Given the description of an element on the screen output the (x, y) to click on. 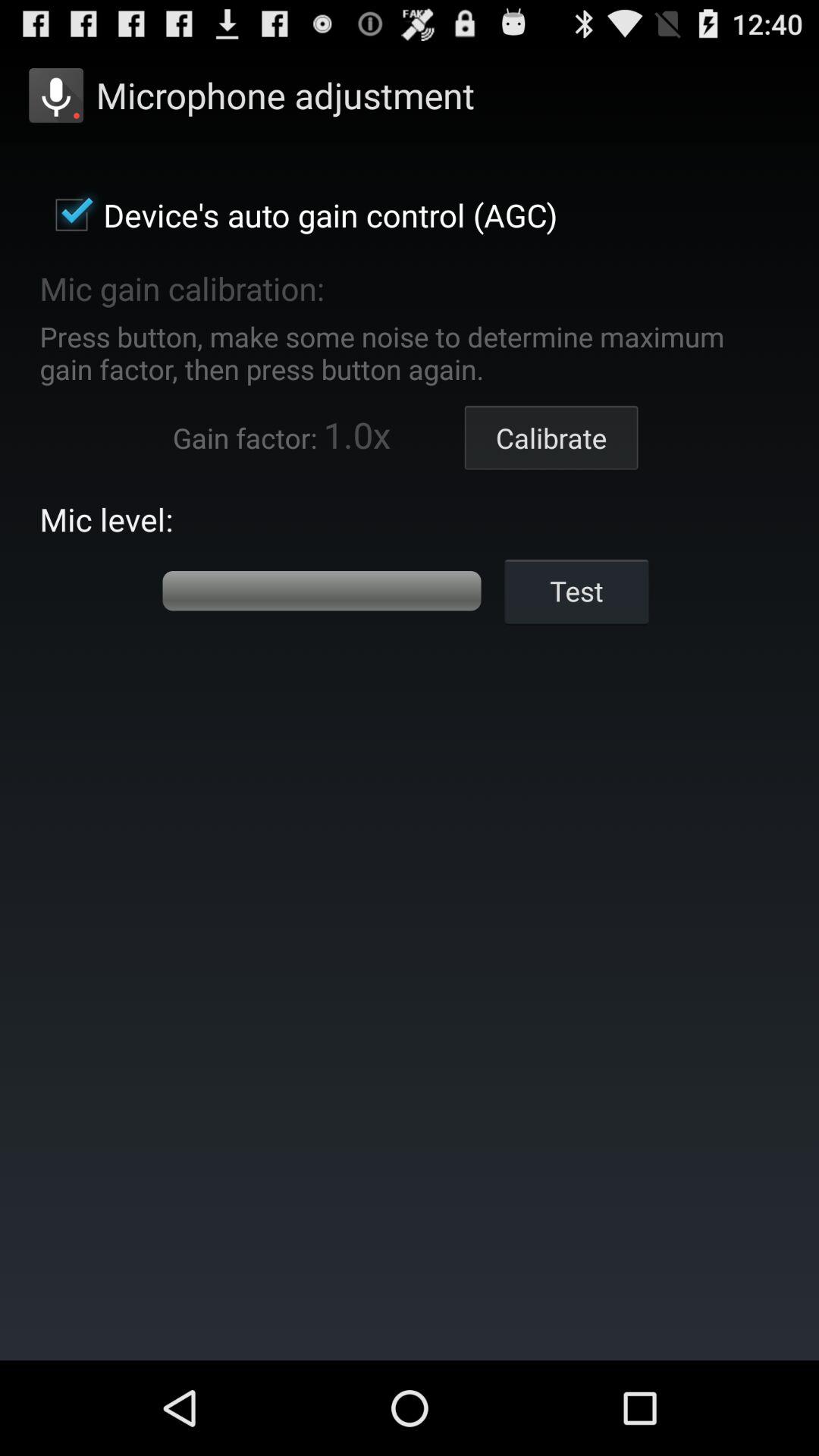
choose test item (576, 590)
